Given the description of an element on the screen output the (x, y) to click on. 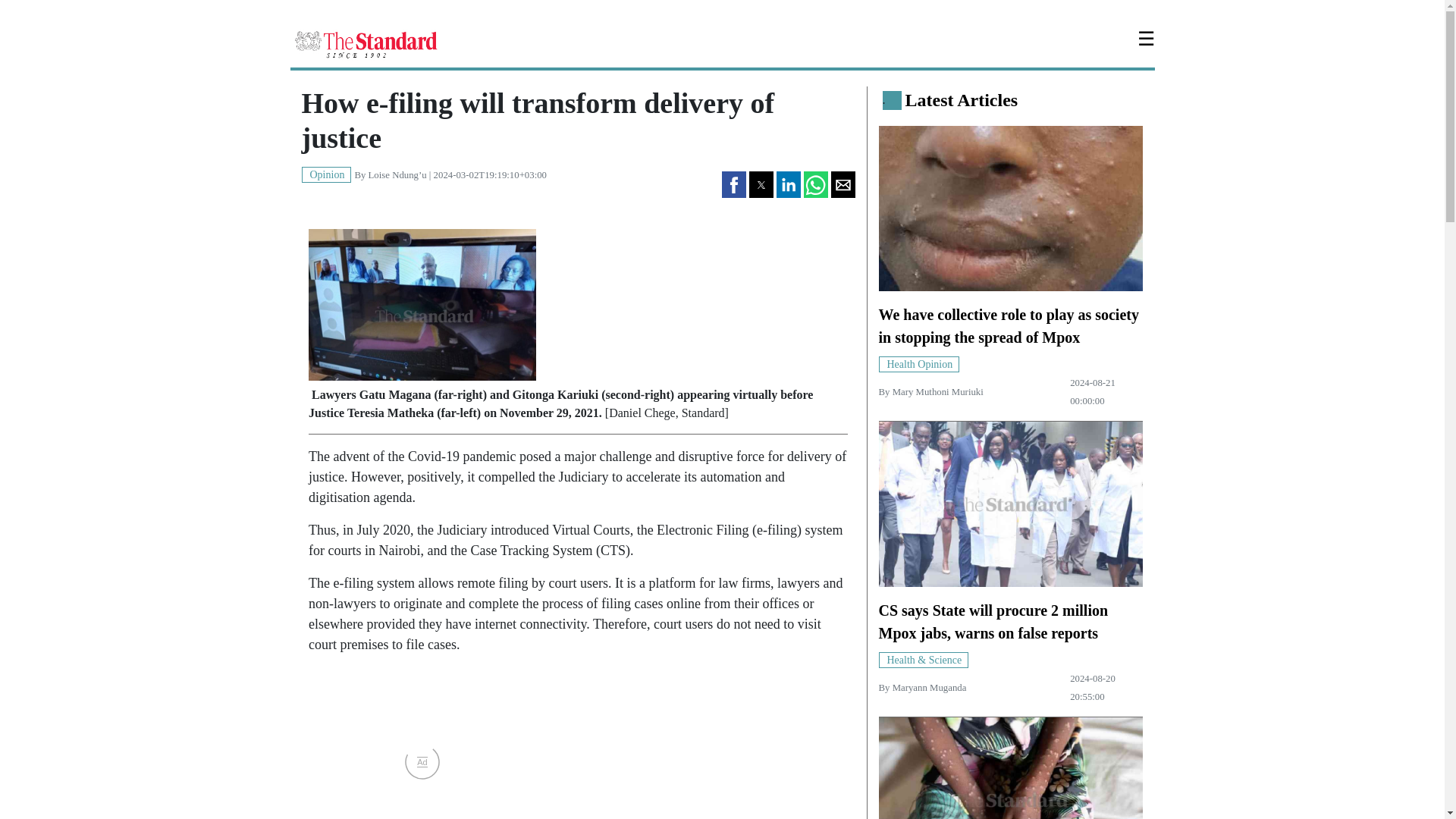
Mary Muthoni Muriuki (938, 391)
Opinion (326, 173)
Latest Articles (961, 99)
Health Opinion (918, 363)
Maryann Muganda (929, 687)
